Given the description of an element on the screen output the (x, y) to click on. 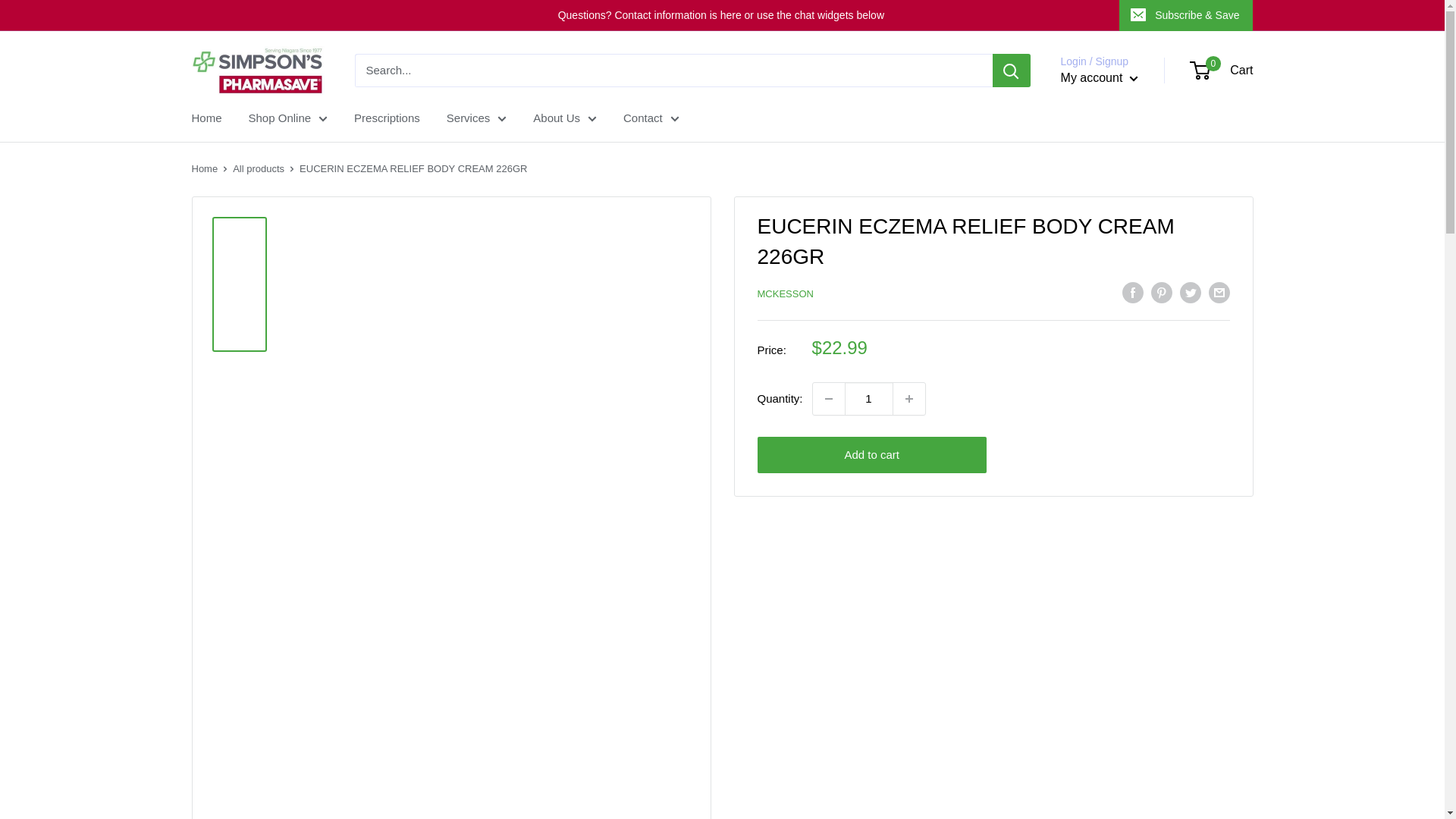
Increase quantity by 1 (908, 398)
Decrease quantity by 1 (828, 398)
1 (868, 398)
